Given the description of an element on the screen output the (x, y) to click on. 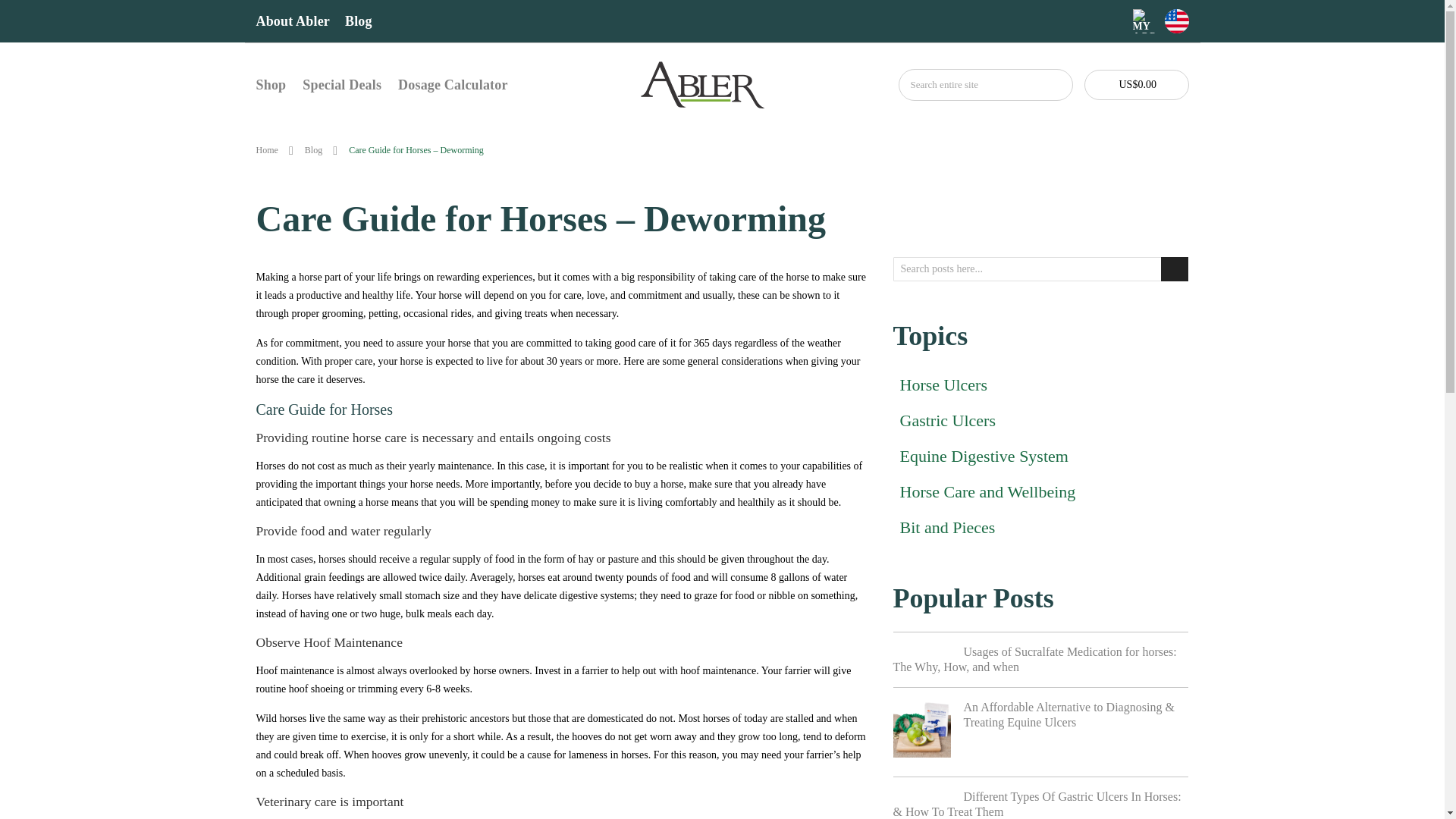
Search (1174, 269)
Blog (358, 20)
Go to Home Page (267, 149)
Blog (312, 149)
Search (1053, 84)
About Abler (293, 20)
Shop (271, 84)
